Given the description of an element on the screen output the (x, y) to click on. 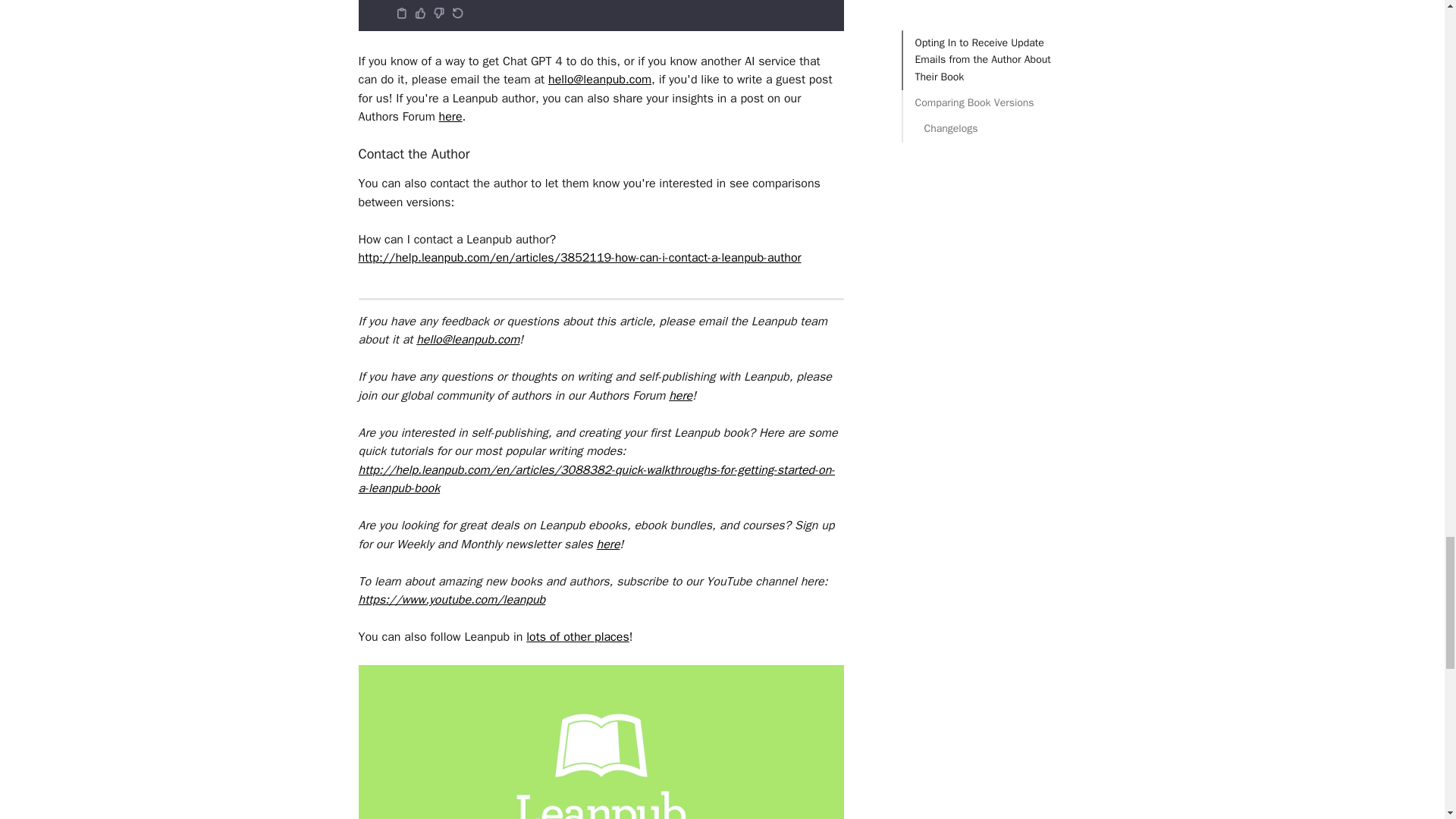
here (680, 395)
here (451, 116)
lots of other places (576, 636)
here (608, 544)
